Given the description of an element on the screen output the (x, y) to click on. 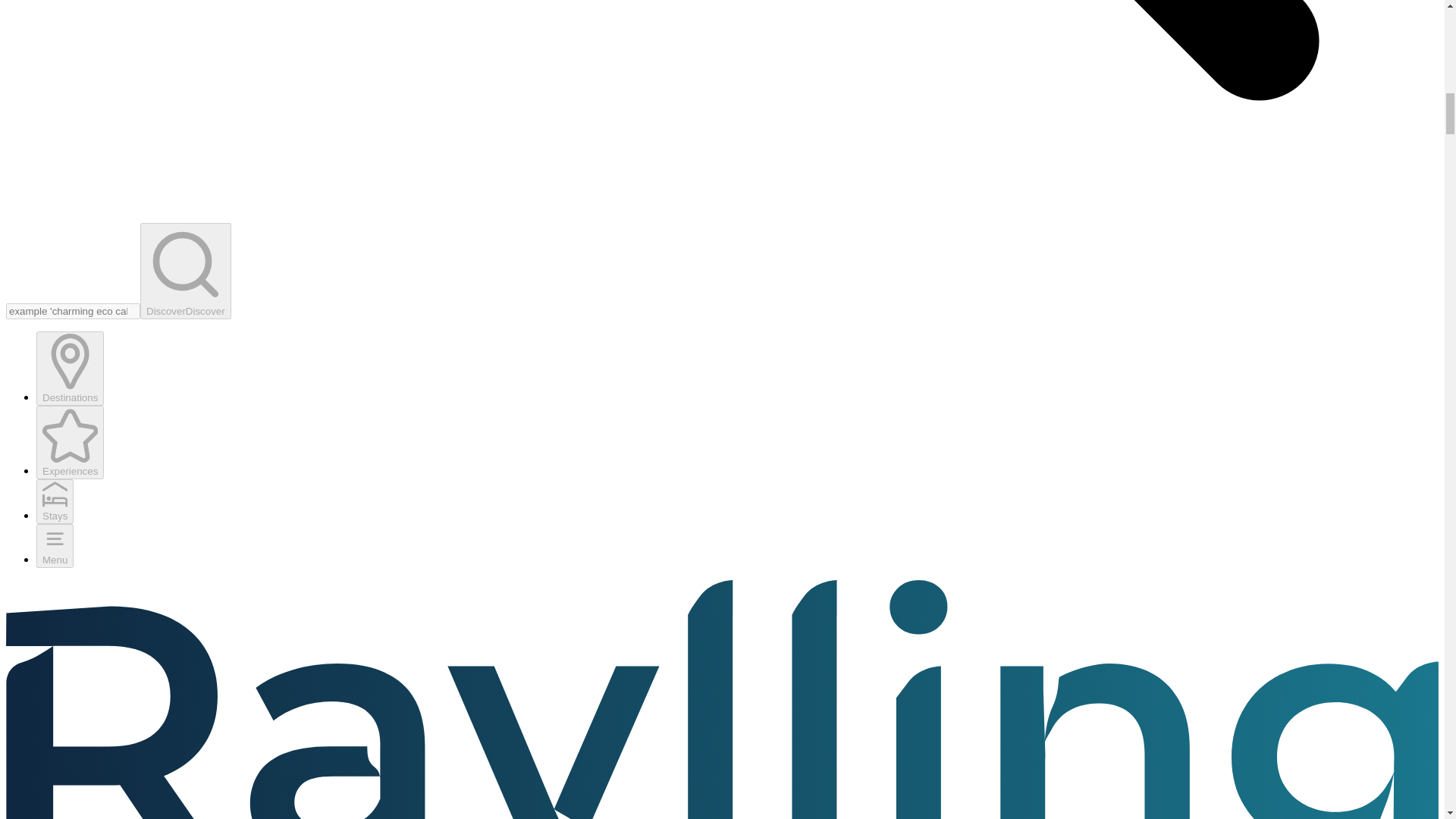
DiscoverDiscover (185, 271)
Destinations (69, 367)
Experiences (69, 442)
